Given the description of an element on the screen output the (x, y) to click on. 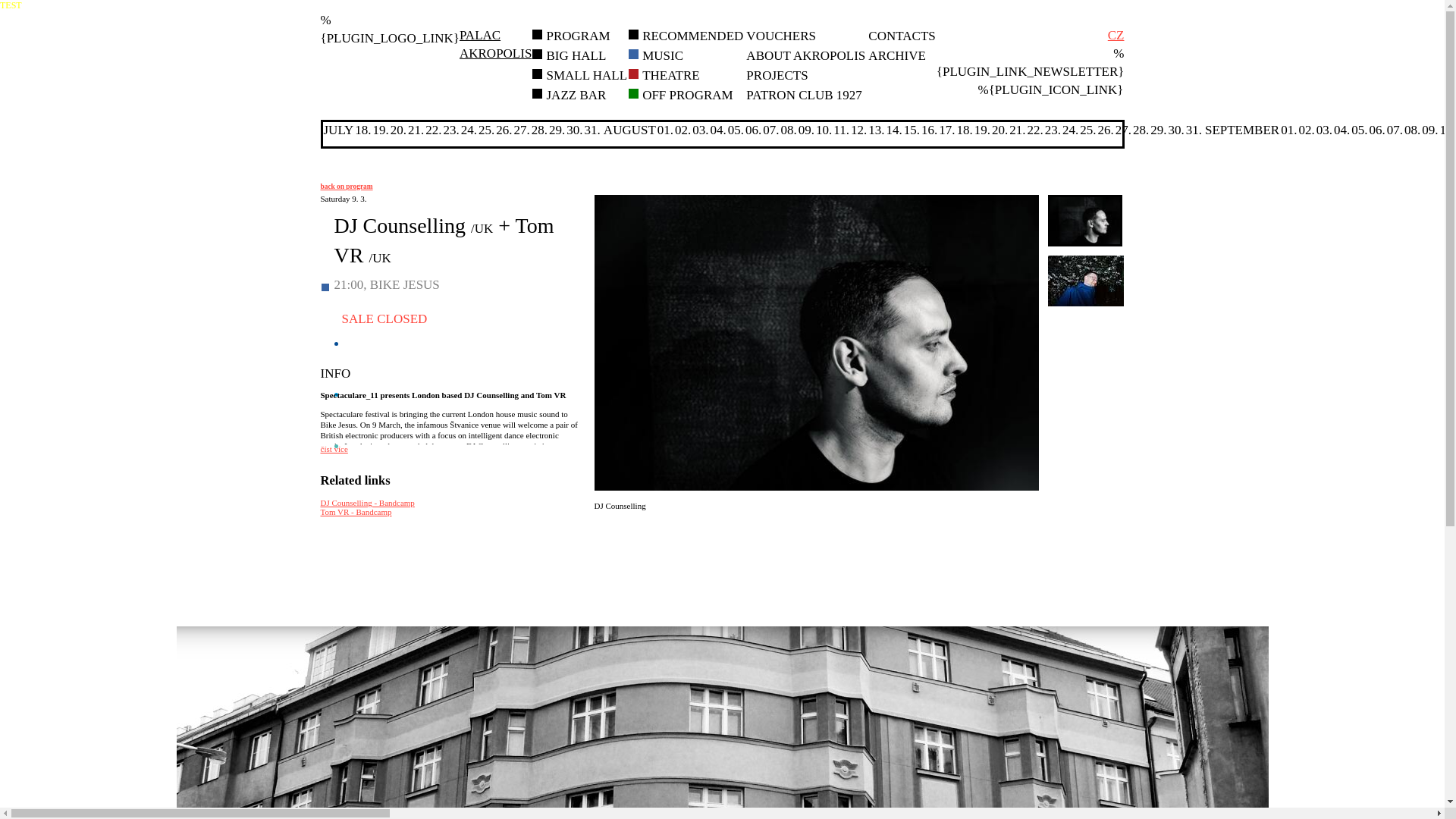
ARCHIVE (896, 55)
JAZZ BAR (575, 94)
ABOUT AKROPOLIS (804, 55)
VOUCHERS (780, 35)
CONTACTS (900, 35)
MUSIC (662, 55)
SMALL HALL (586, 74)
BIG HALL (575, 55)
RECOMMENDED (692, 35)
THEATRE (671, 74)
PROJECTS (776, 74)
CZ (1116, 34)
PROGRAM (495, 43)
PATRON CLUB 1927 (578, 35)
